Given the description of an element on the screen output the (x, y) to click on. 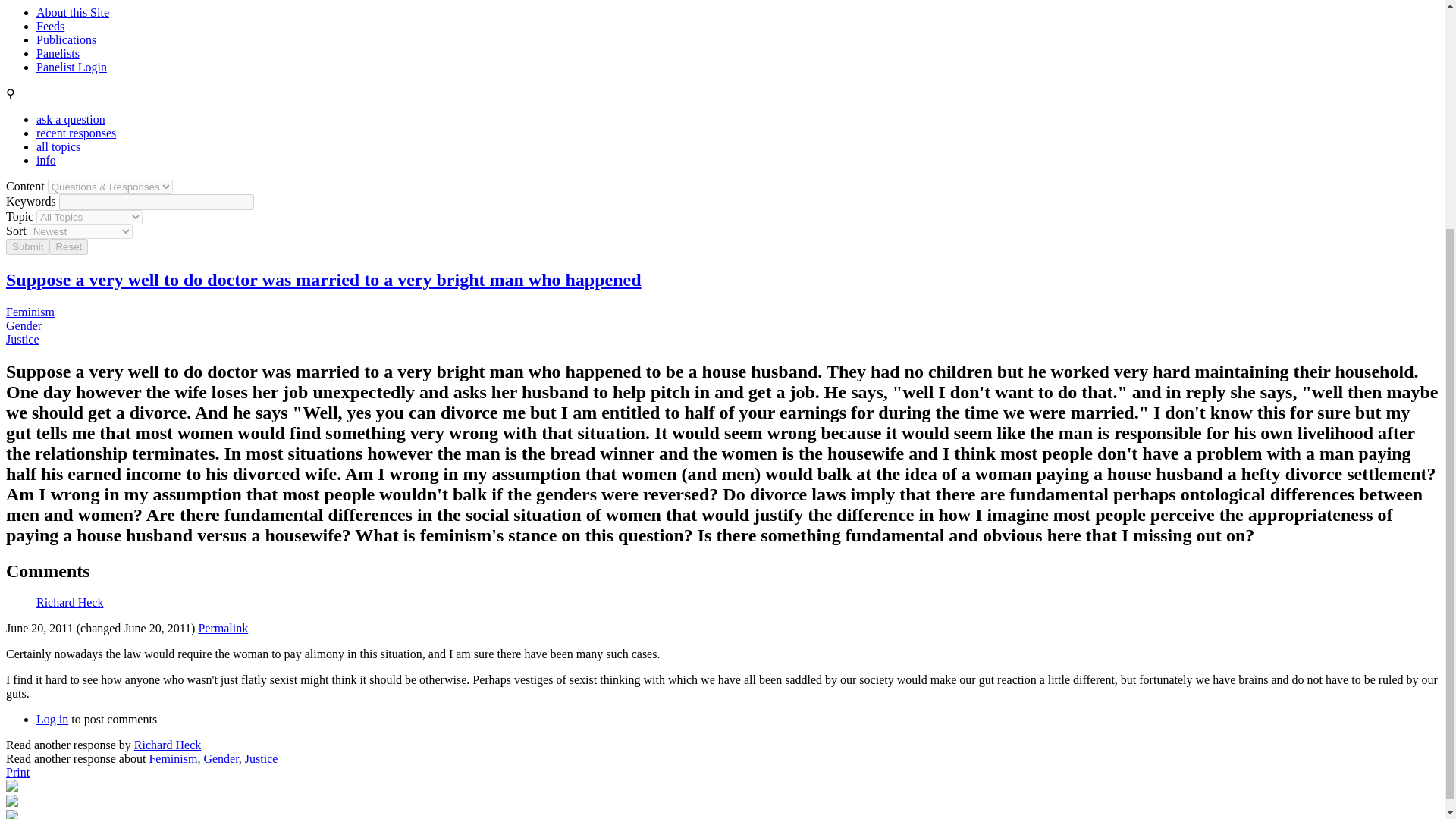
Submit (27, 246)
Display a printer-friendly version of this page. (17, 771)
About this Site (72, 11)
Panelists (58, 52)
Gender (220, 758)
Submit (27, 246)
Feeds (50, 25)
Print (17, 771)
Justice (261, 758)
Richard Heck (69, 602)
Reset (68, 246)
Permalink (222, 627)
Justice (22, 338)
recent responses (76, 132)
ask a question (70, 119)
